Given the description of an element on the screen output the (x, y) to click on. 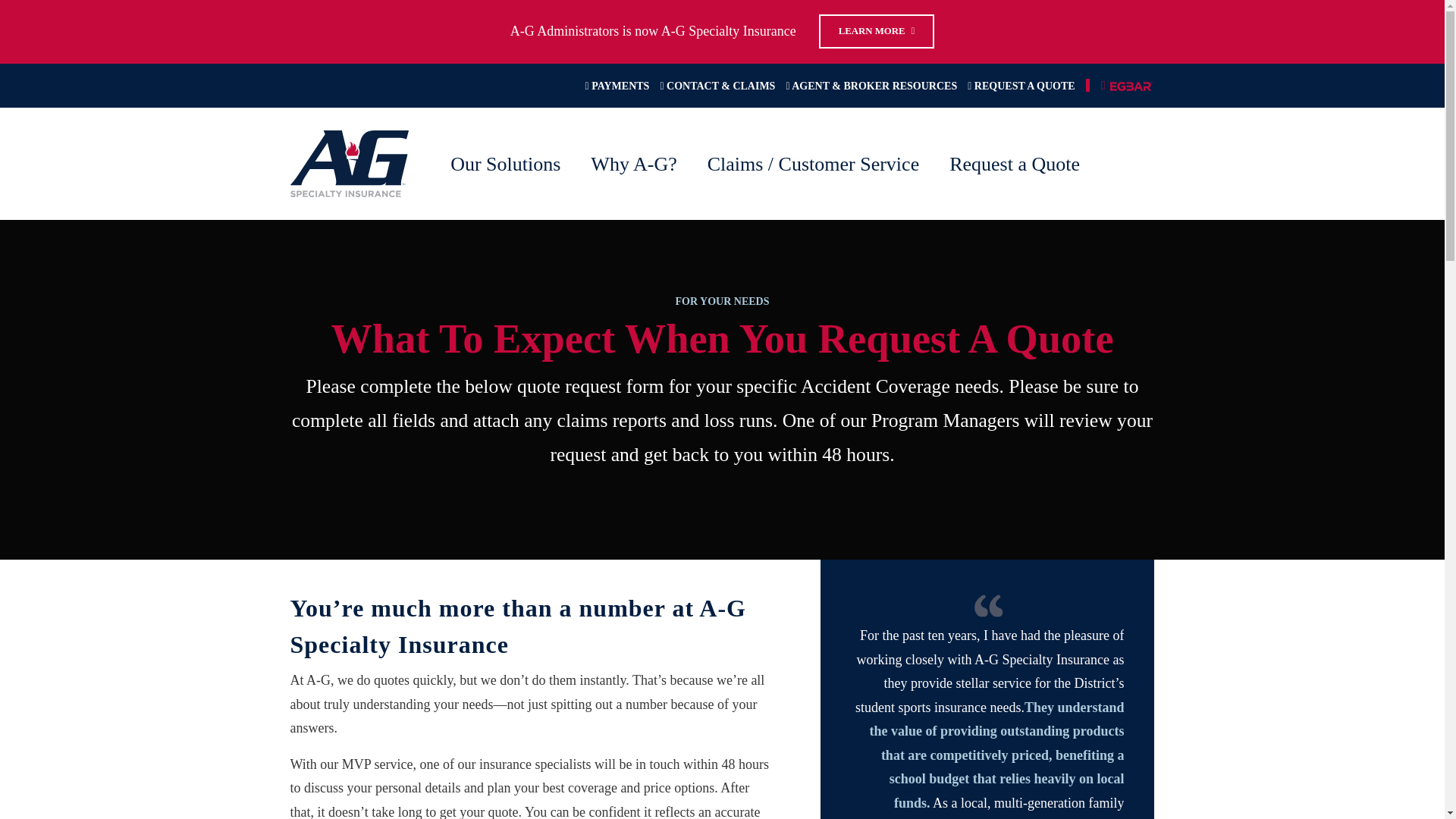
LEARN MORE (876, 31)
Our Solutions (509, 163)
REQUEST A QUOTE (1021, 85)
PAYMENTS (617, 85)
Why A-G? (637, 163)
